Given the description of an element on the screen output the (x, y) to click on. 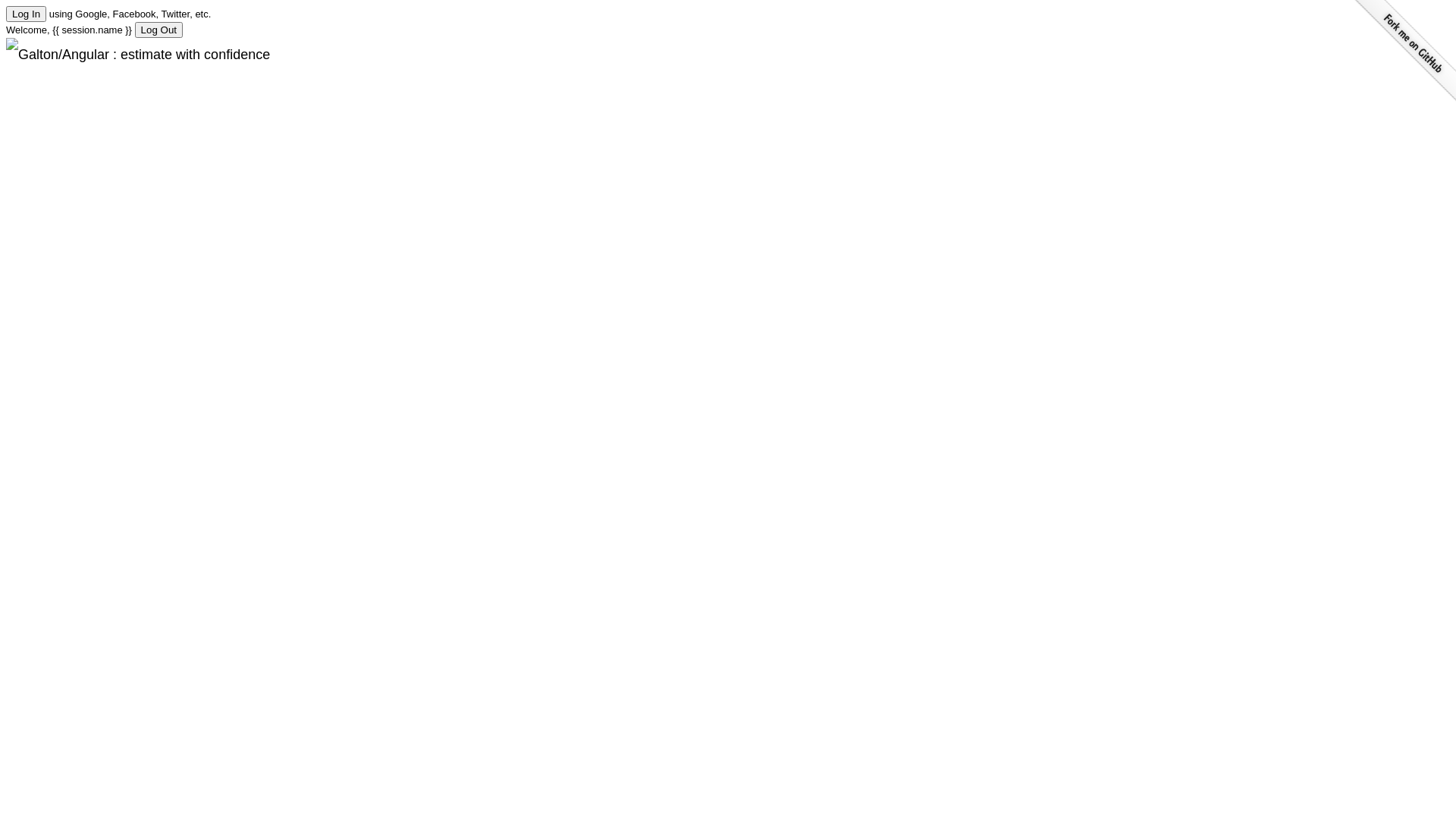
Log Out Element type: text (158, 29)
Log In Element type: text (26, 13)
Log Out Element type: text (158, 29)
Log In Element type: text (26, 13)
